Given the description of an element on the screen output the (x, y) to click on. 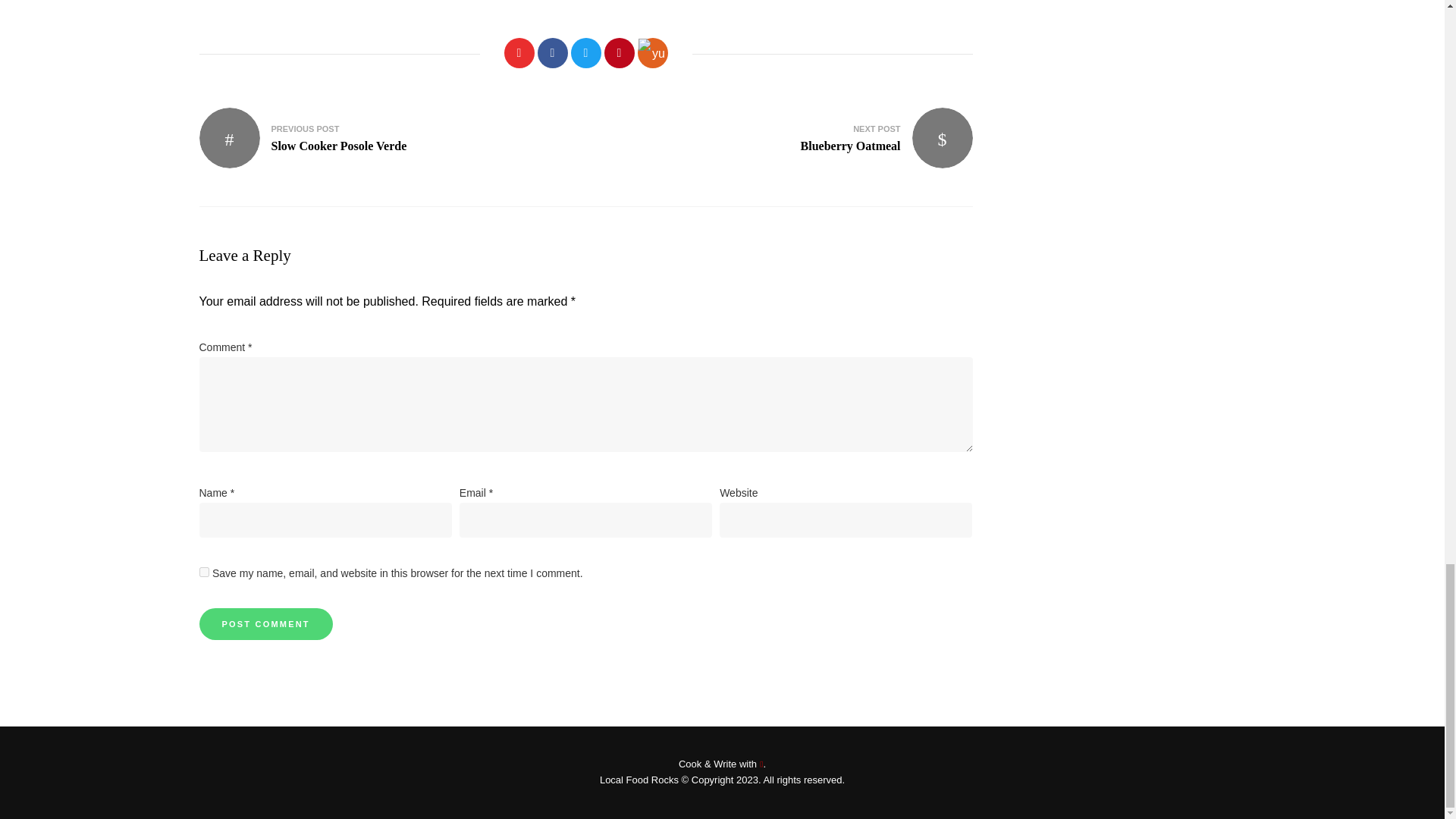
Like (785, 137)
yes (518, 52)
Twitter (203, 572)
Post Comment (584, 52)
Facebook (384, 137)
Post Comment (264, 623)
Pinterest (552, 52)
Yummly (264, 623)
